Given the description of an element on the screen output the (x, y) to click on. 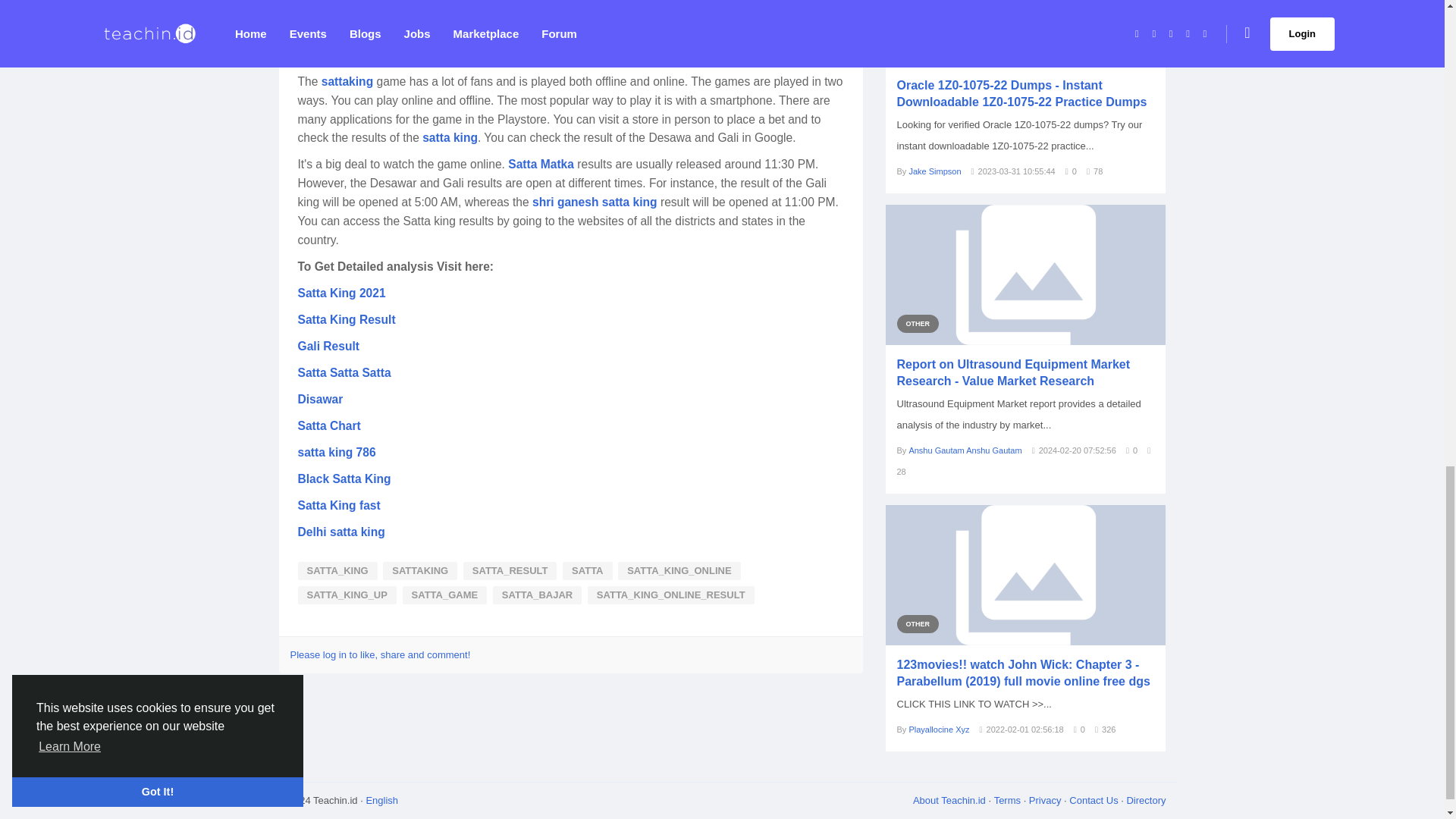
Satta Satta (496, 17)
Gali Satta (348, 4)
